Given the description of an element on the screen output the (x, y) to click on. 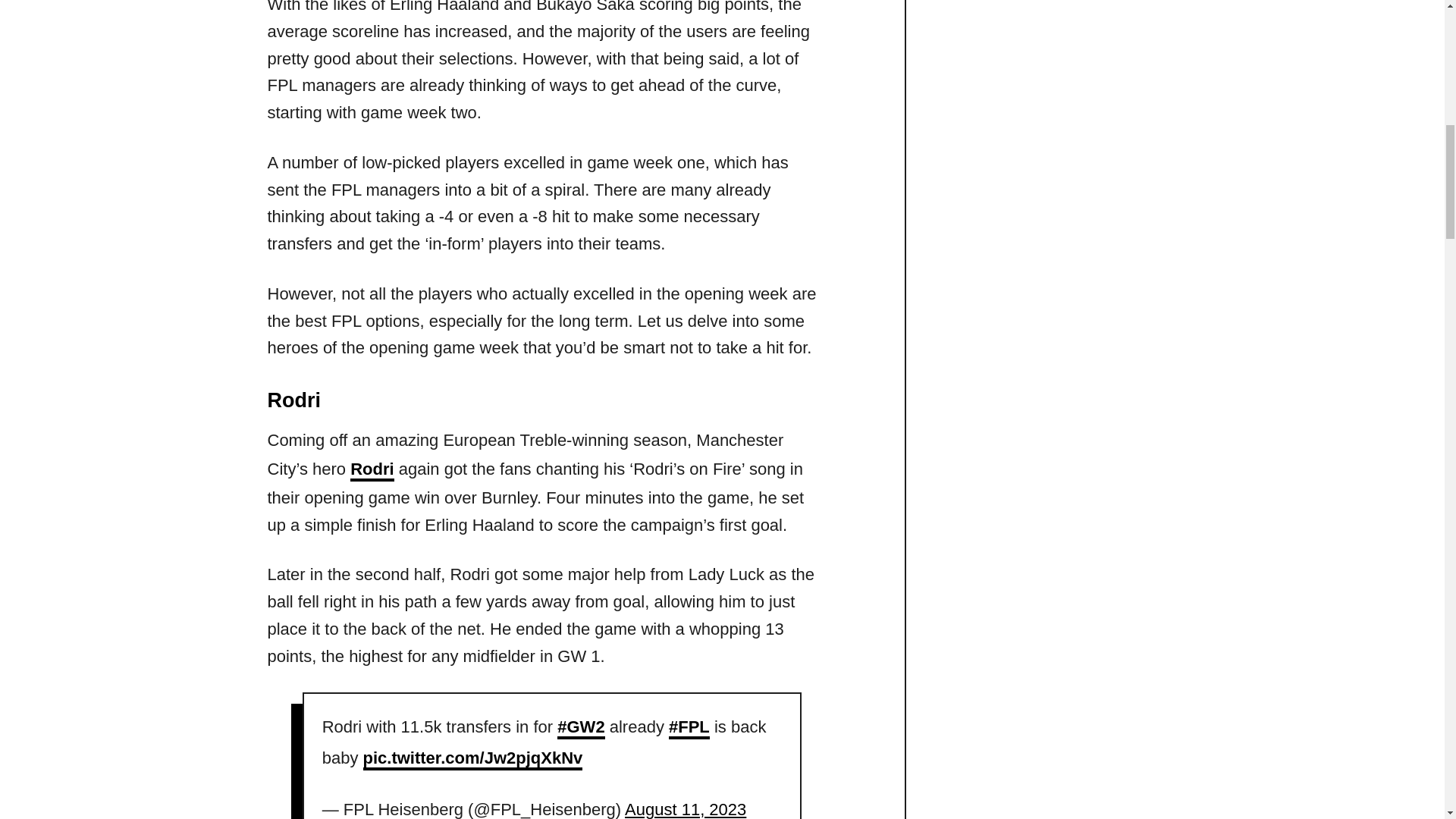
August 11, 2023 (684, 809)
Rodri (371, 470)
